Given the description of an element on the screen output the (x, y) to click on. 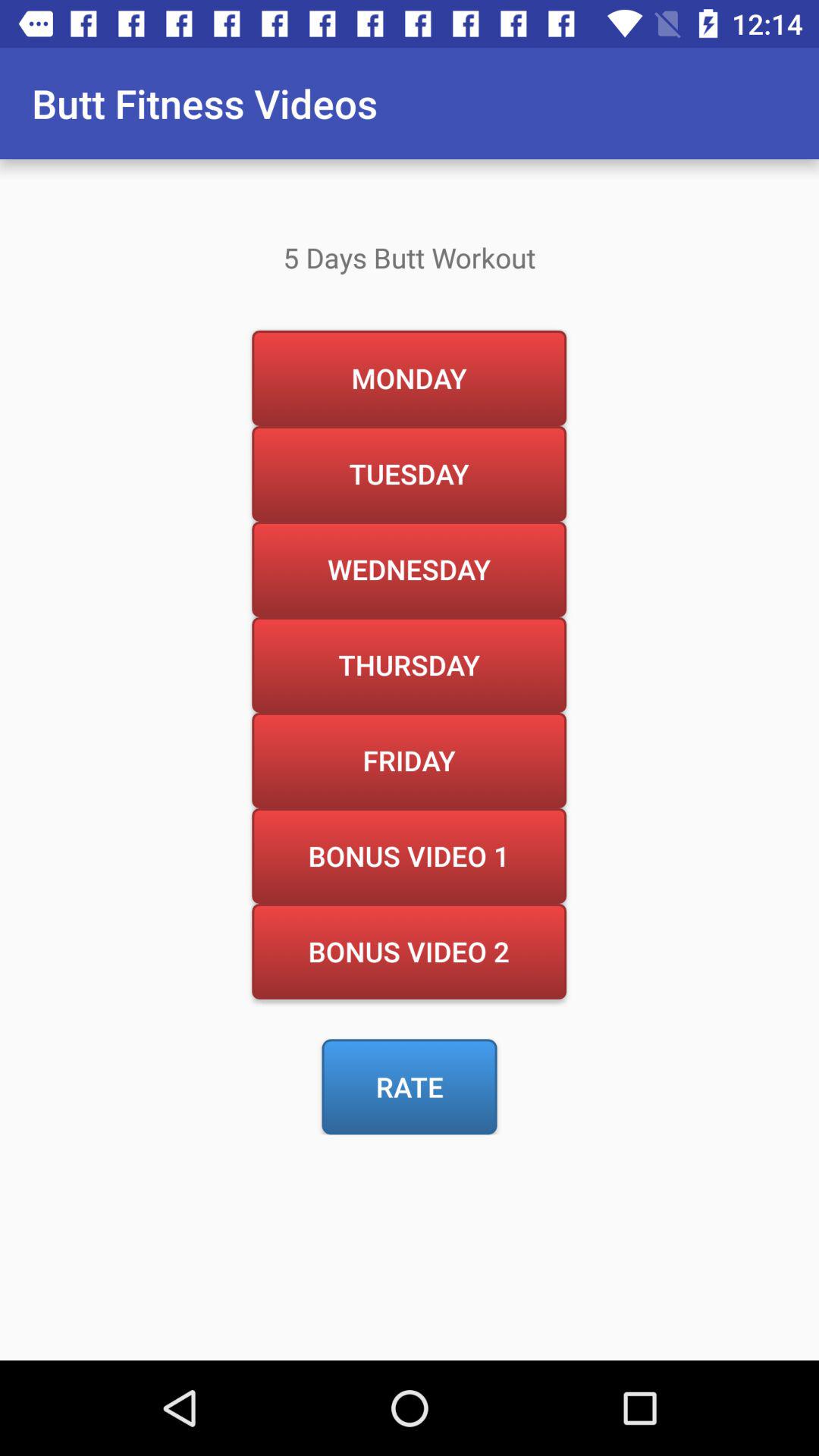
turn on item below the 5 days butt icon (408, 377)
